Given the description of an element on the screen output the (x, y) to click on. 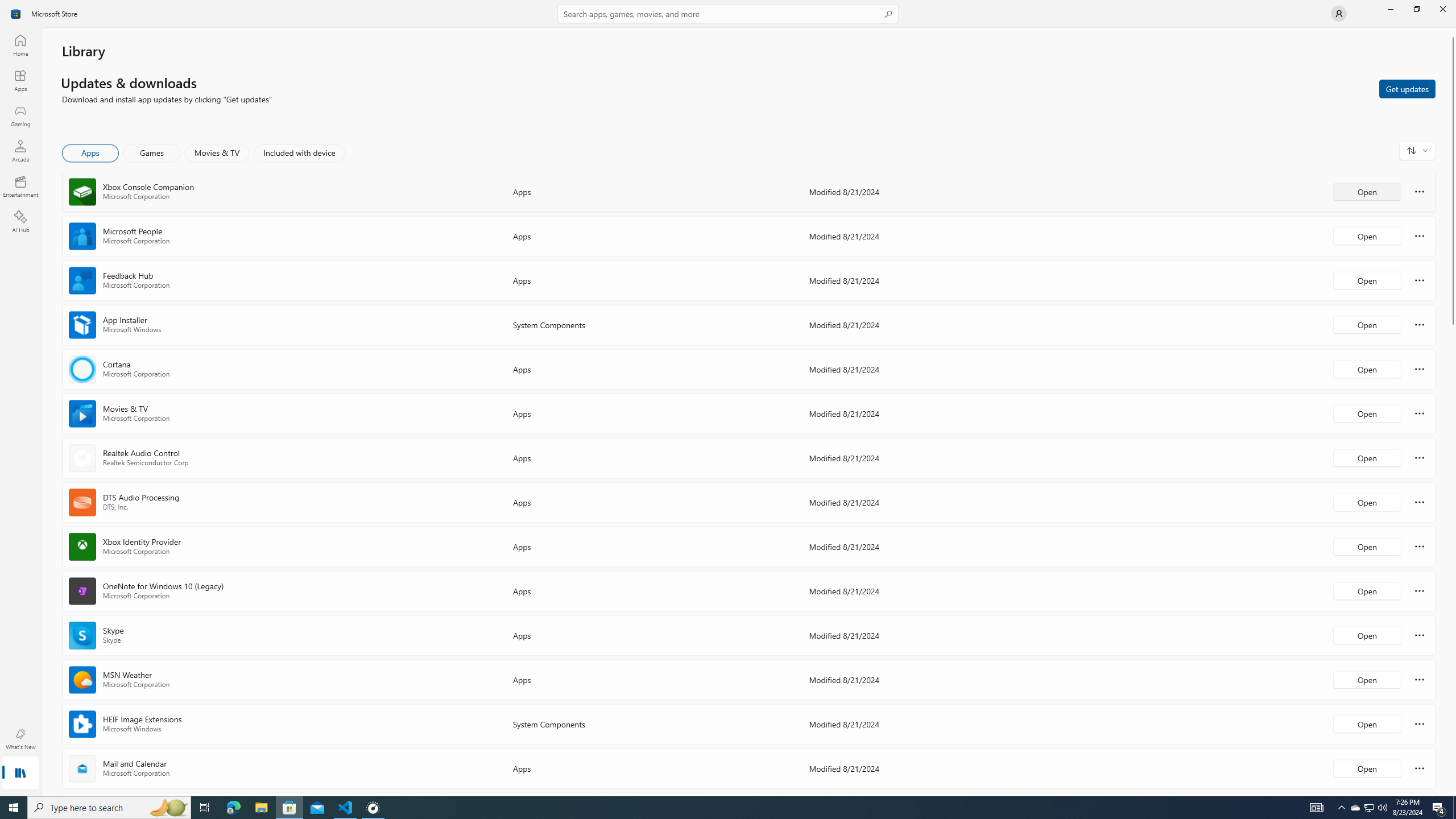
Search (727, 13)
Movies & TV (216, 153)
Home (20, 45)
AI Hub (20, 221)
Included with device (299, 153)
Open (1366, 768)
Apps (90, 153)
Gaming (20, 115)
Sort and filter (1417, 149)
User profile (1338, 13)
Vertical Small Decrease (1452, 31)
More options (1419, 768)
